Given the description of an element on the screen output the (x, y) to click on. 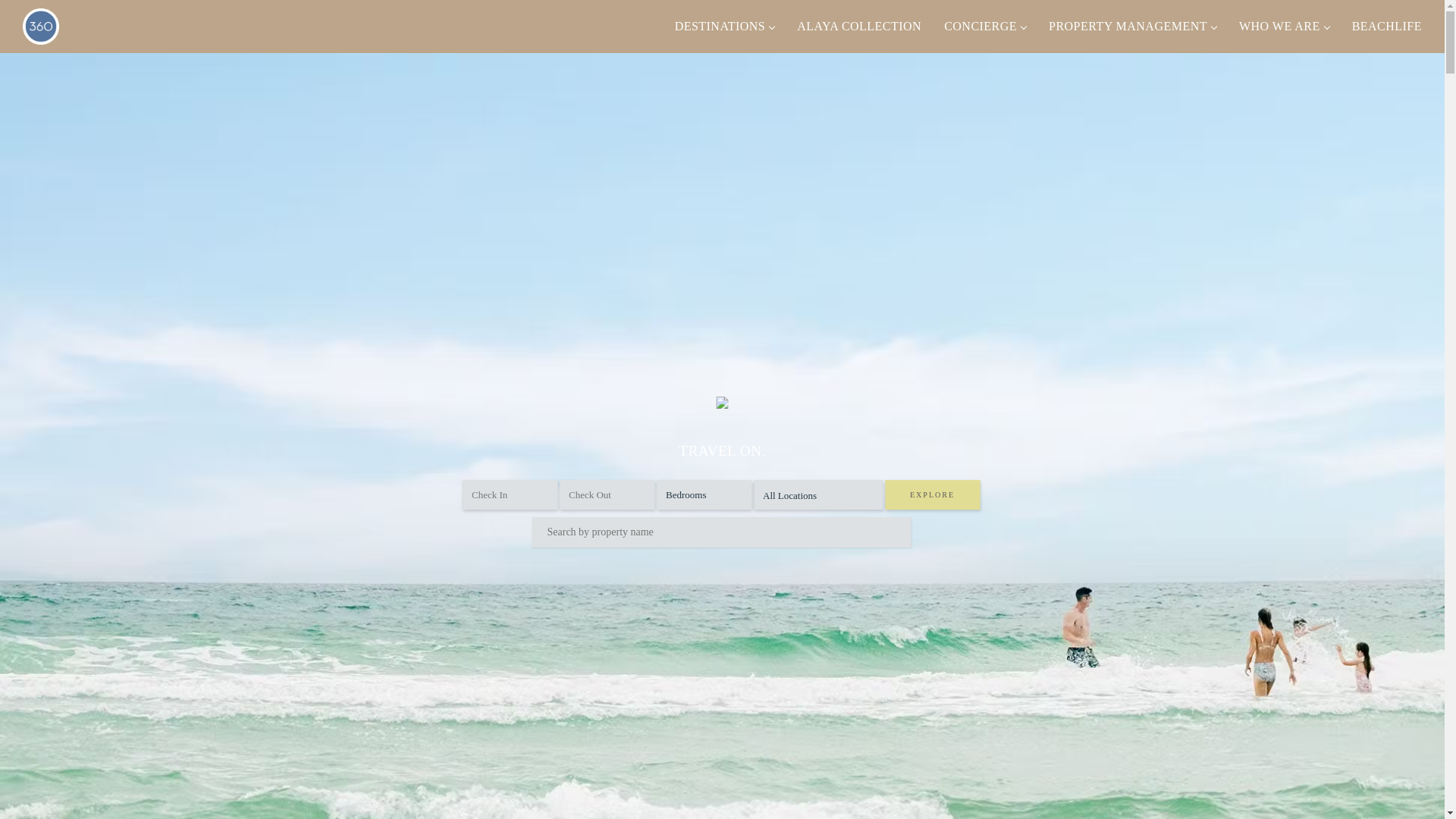
CONCIERGE Element type: text (984, 26)
PROPERTY MANAGEMENT Element type: text (1132, 26)
EXPLORE Element type: text (931, 494)
WHO WE ARE Element type: text (1283, 26)
Check In Element type: hover (509, 494)
Check Out Element type: hover (606, 494)
DESTINATIONS Element type: text (724, 26)
ALAYA COLLECTION Element type: text (858, 26)
BEACHLIFE Element type: text (1386, 26)
